Given the description of an element on the screen output the (x, y) to click on. 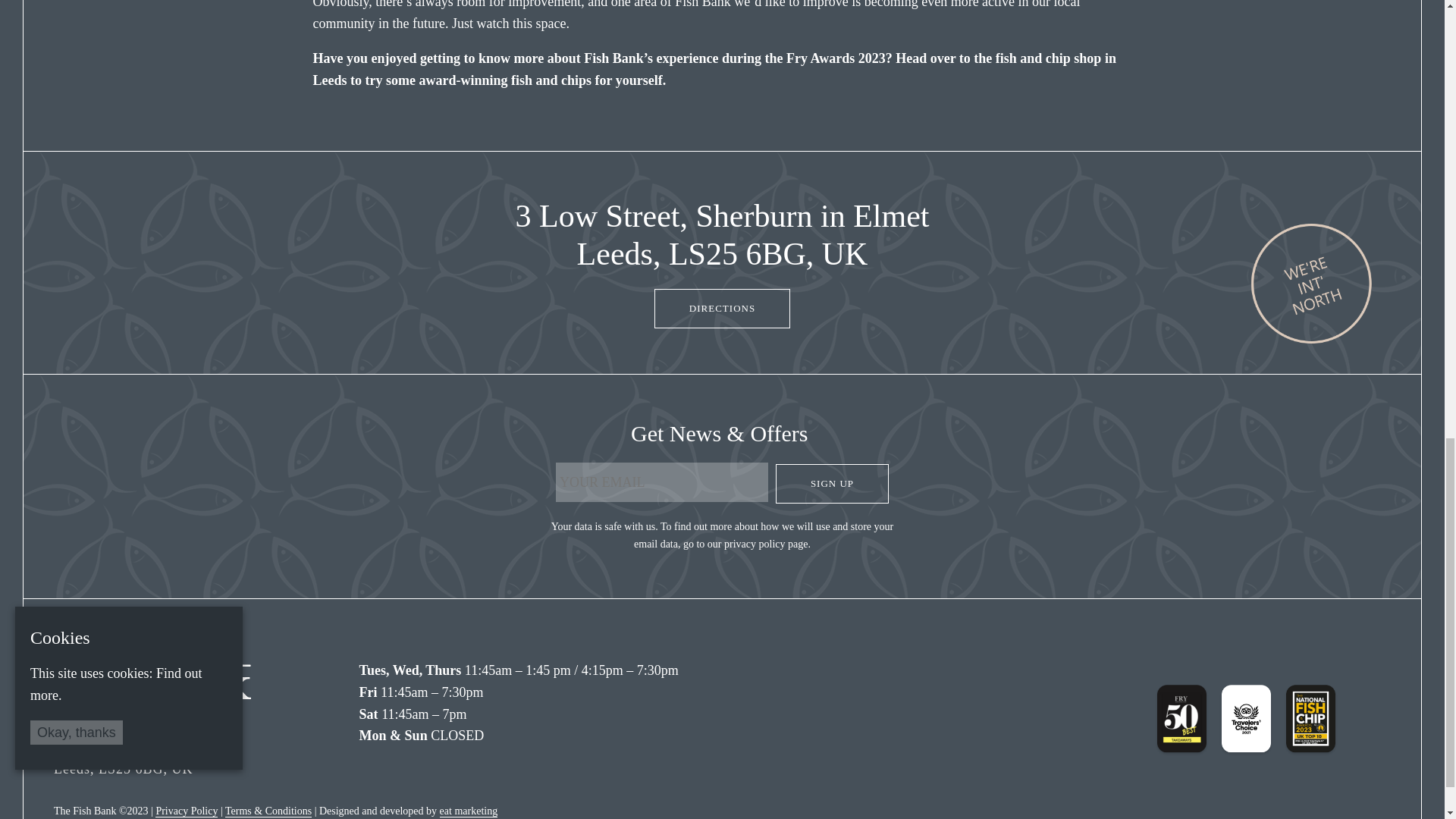
Privacy Policy (185, 811)
eat marketing (468, 811)
Sign up (832, 483)
privacy policy (753, 543)
DIRECTIONS (721, 309)
Sign up (832, 483)
